Given the description of an element on the screen output the (x, y) to click on. 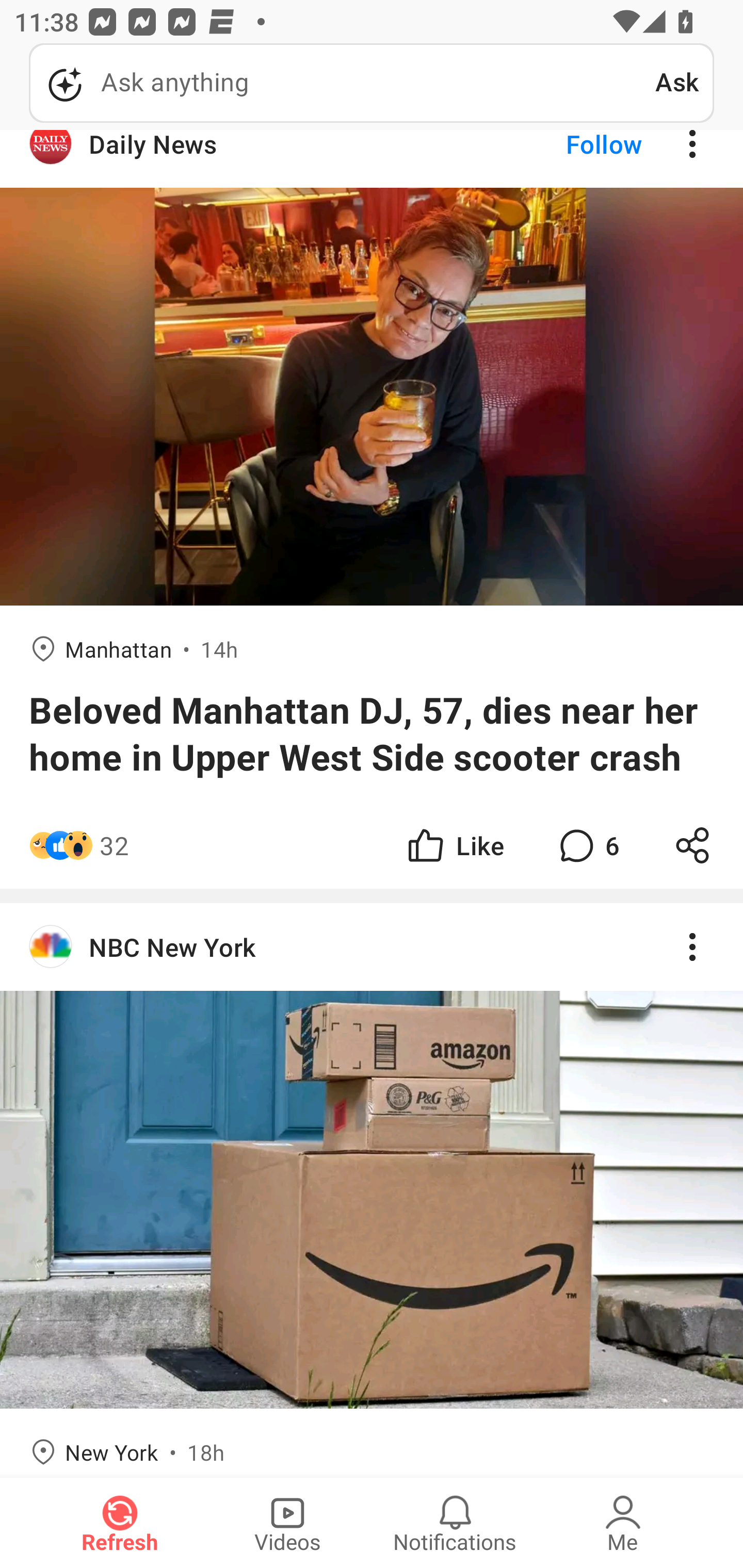
Ask anything (341, 82)
Daily News Follow (371, 159)
Follow (569, 159)
32 (114, 845)
Like (454, 845)
6 (587, 845)
NBC New York New York   •  18h (371, 1190)
NBC New York (371, 946)
Videos (287, 1522)
Notifications (455, 1522)
Me (622, 1522)
